Given the description of an element on the screen output the (x, y) to click on. 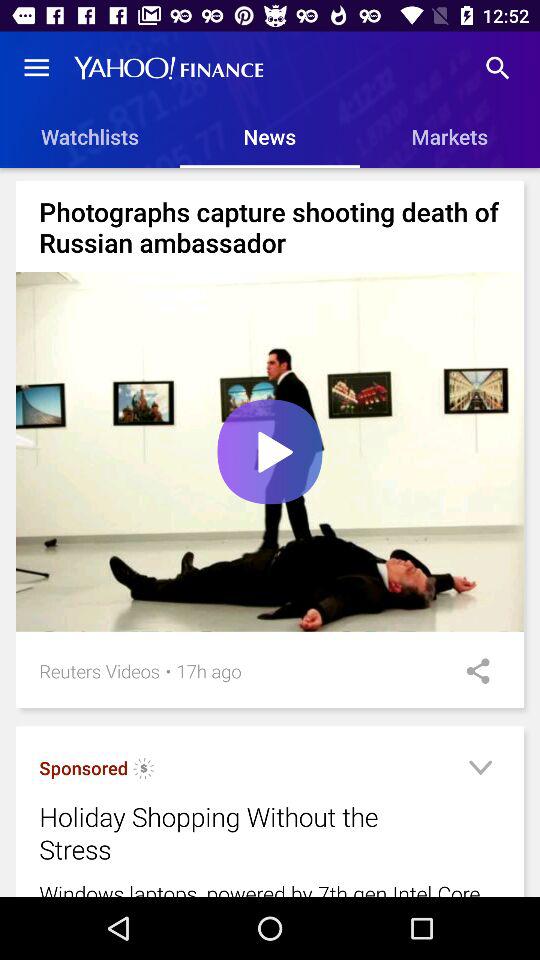
menu option (480, 770)
